Given the description of an element on the screen output the (x, y) to click on. 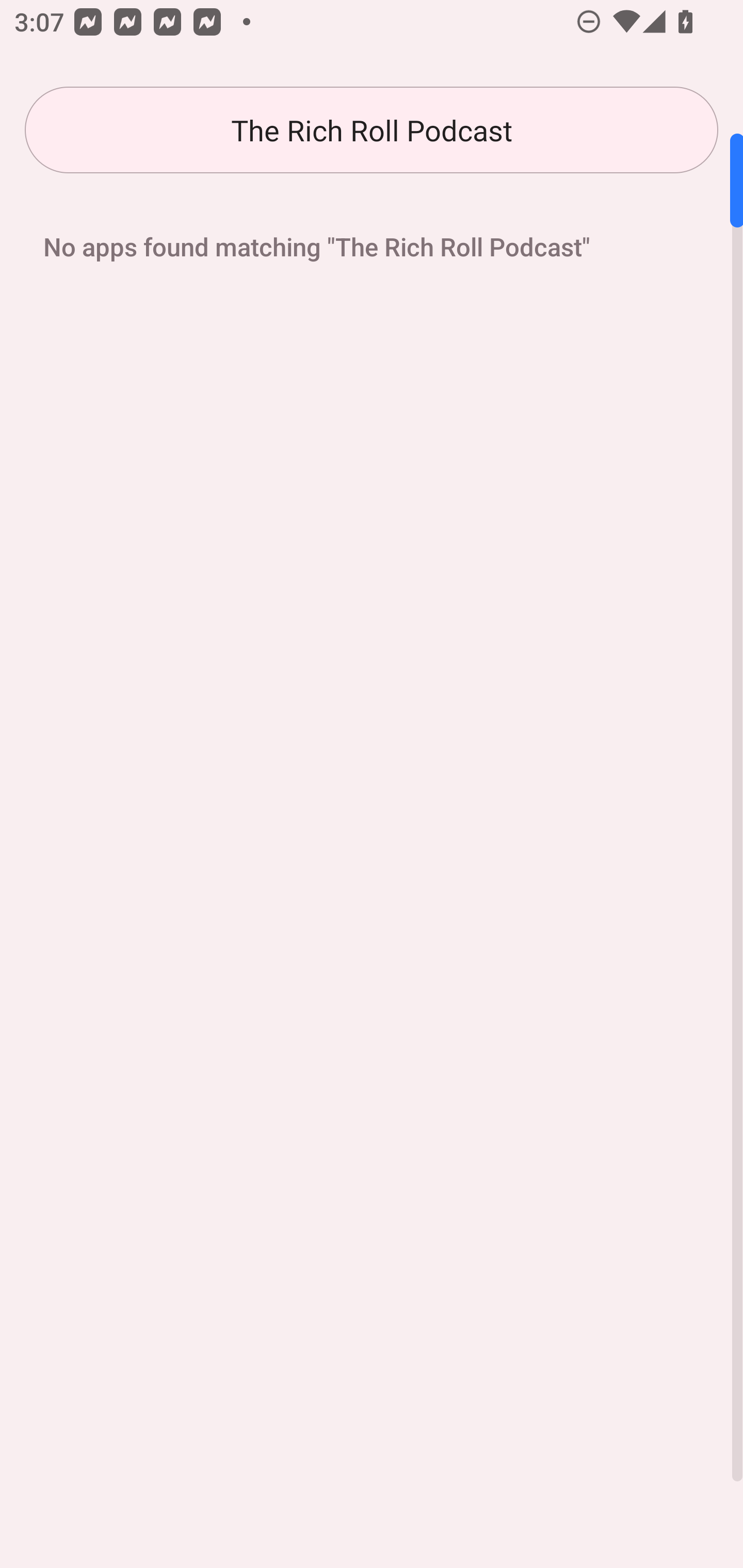
The Rich Roll Podcast (371, 130)
